Given the description of an element on the screen output the (x, y) to click on. 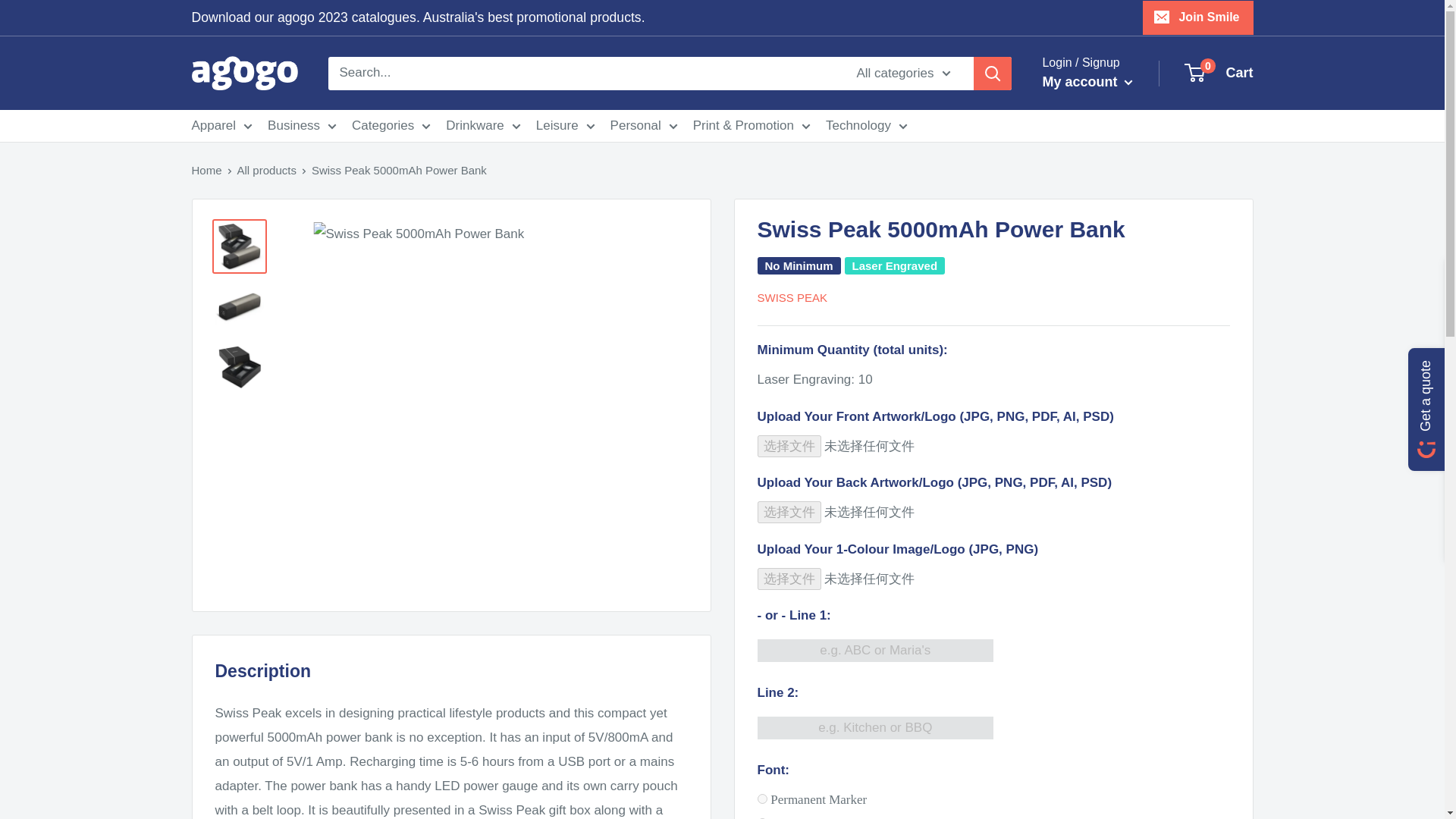
e.g. Kitchen or BBQ (874, 727)
Permanent Marker (762, 798)
e.g. ABC or Maria's (874, 650)
Join Smile (1197, 17)
